Given the description of an element on the screen output the (x, y) to click on. 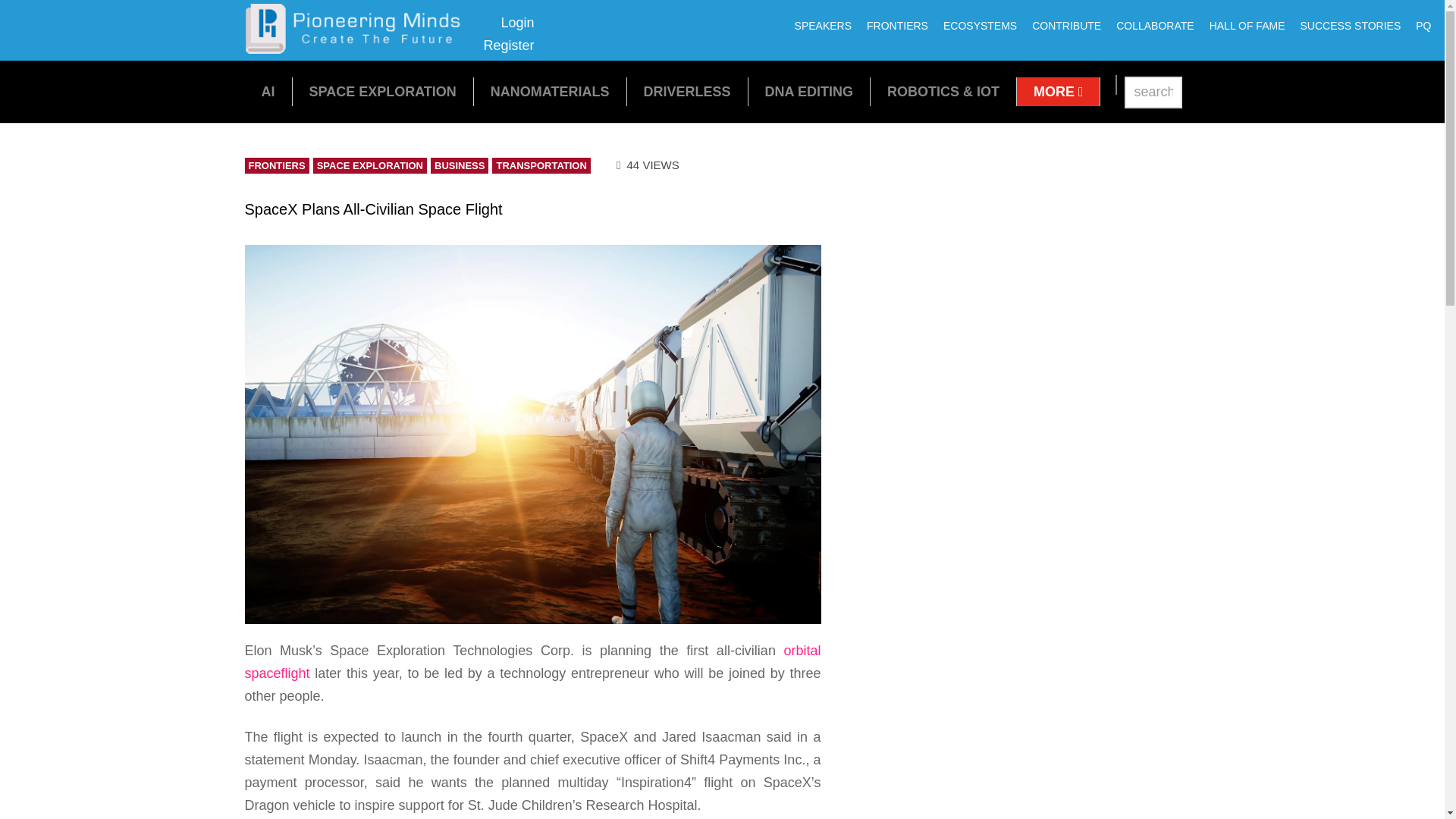
FRONTIERS (897, 26)
SUCCESS STORIES (1349, 26)
DNA EDITING (809, 91)
NANOMATERIALS (550, 91)
PQ (1422, 26)
DRIVERLESS (686, 91)
HALL OF FAME (1247, 26)
MORE (1058, 91)
SPEAKERS (823, 26)
AI (267, 91)
